Given the description of an element on the screen output the (x, y) to click on. 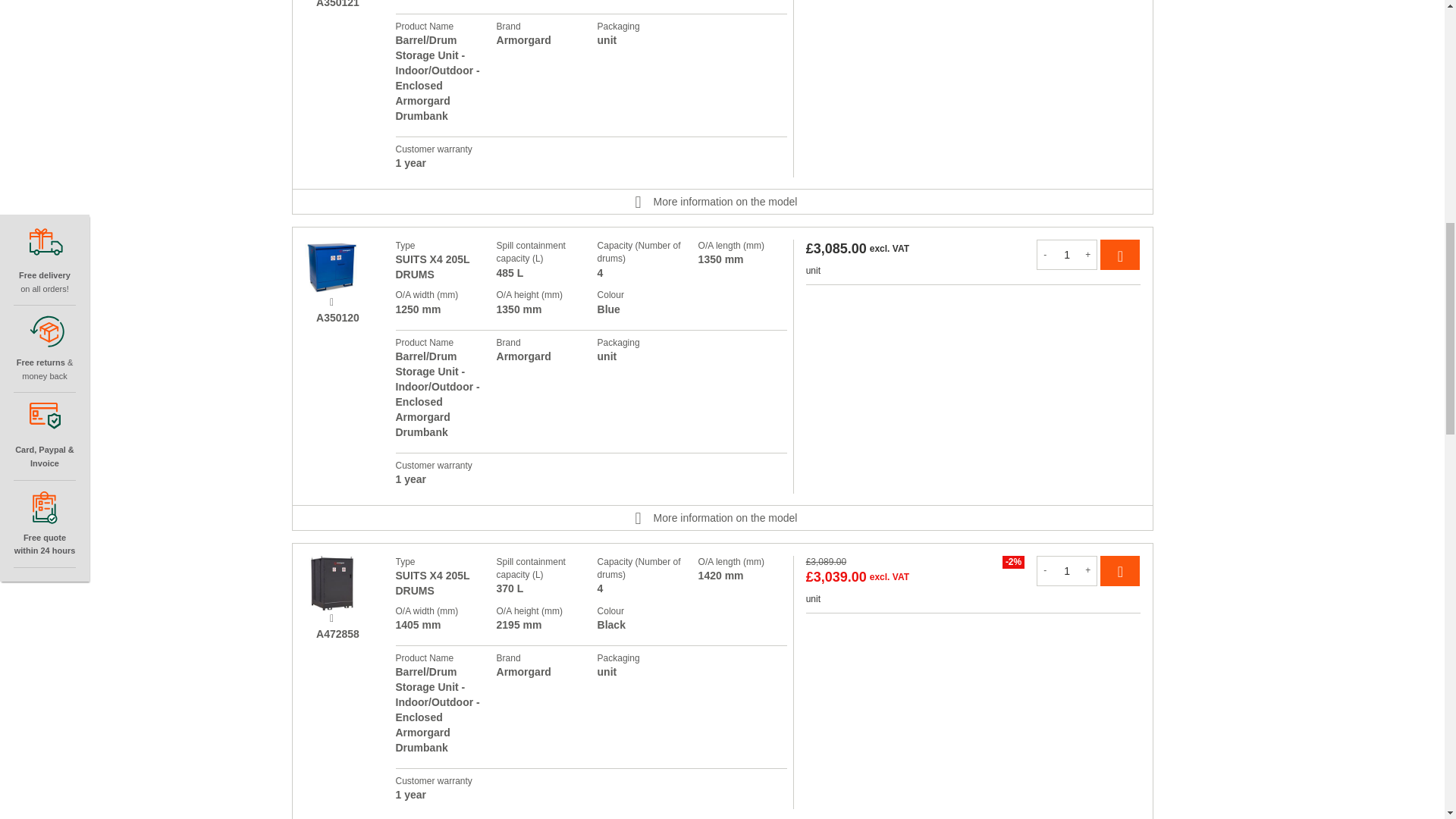
1 (1066, 571)
1 (1066, 254)
